Given the description of an element on the screen output the (x, y) to click on. 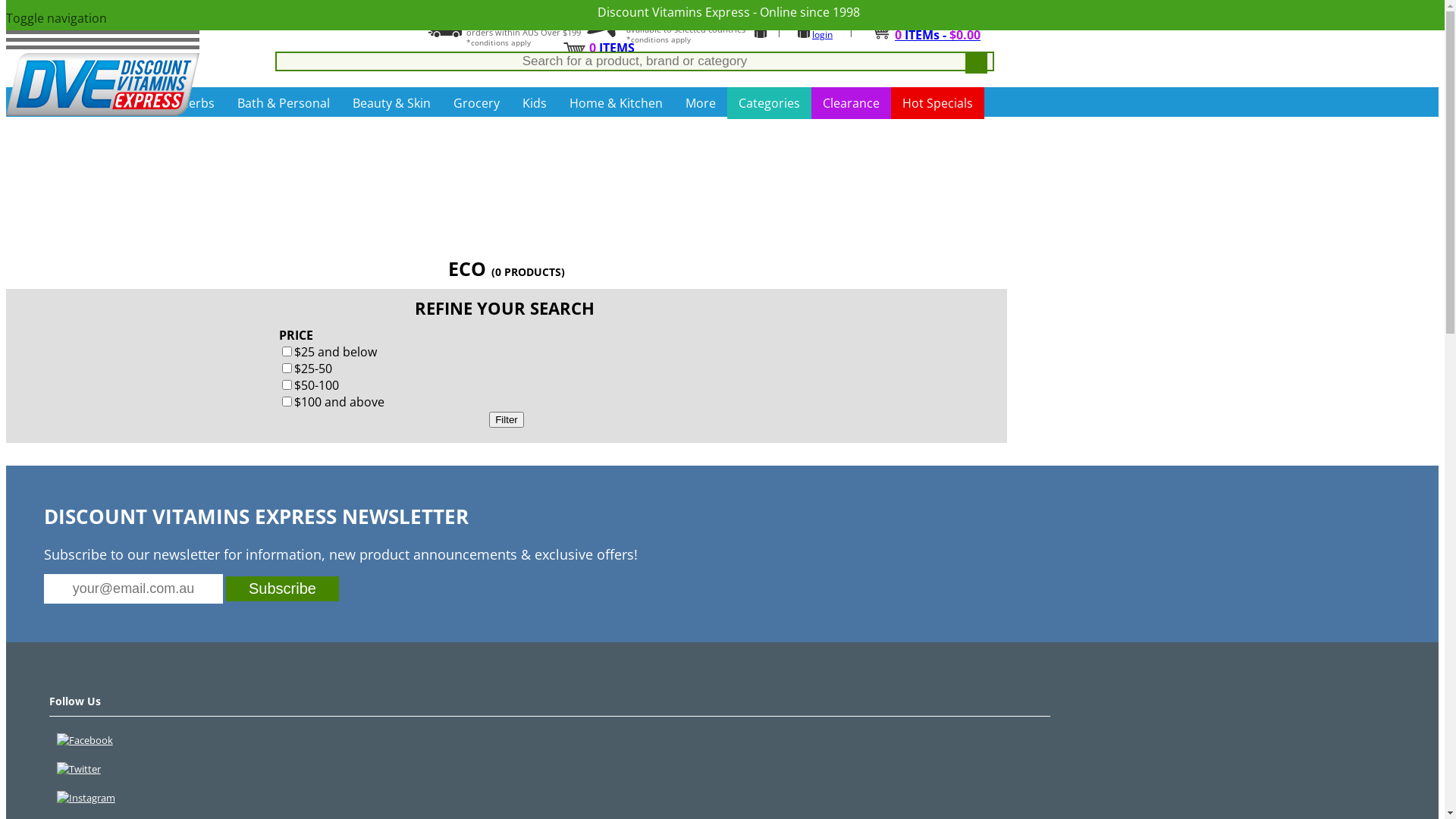
  Element type: text (976, 62)
0 ITEMs - $0.00 Element type: text (937, 34)
Clearance Element type: text (851, 103)
Kids Element type: text (534, 103)
Hot Specials Element type: text (937, 103)
Categories Element type: text (769, 103)
0 ITEMS Element type: text (611, 47)
Filter Element type: text (506, 419)
Beauty & Skin Element type: text (391, 103)
Toggle navigation Element type: text (102, 25)
Discount Vitamins Express - Online since 1998 Element type: text (728, 11)
Supplements Element type: text (118, 103)
Herbs Element type: text (196, 103)
Home & Kitchen Element type: text (616, 103)
Bath & Personal Element type: text (283, 103)
Brands Element type: text (37, 103)
More Element type: text (700, 103)
Grocery Element type: text (476, 103)
$0.00 Element type: text (606, 64)
login Element type: text (822, 34)
